Given the description of an element on the screen output the (x, y) to click on. 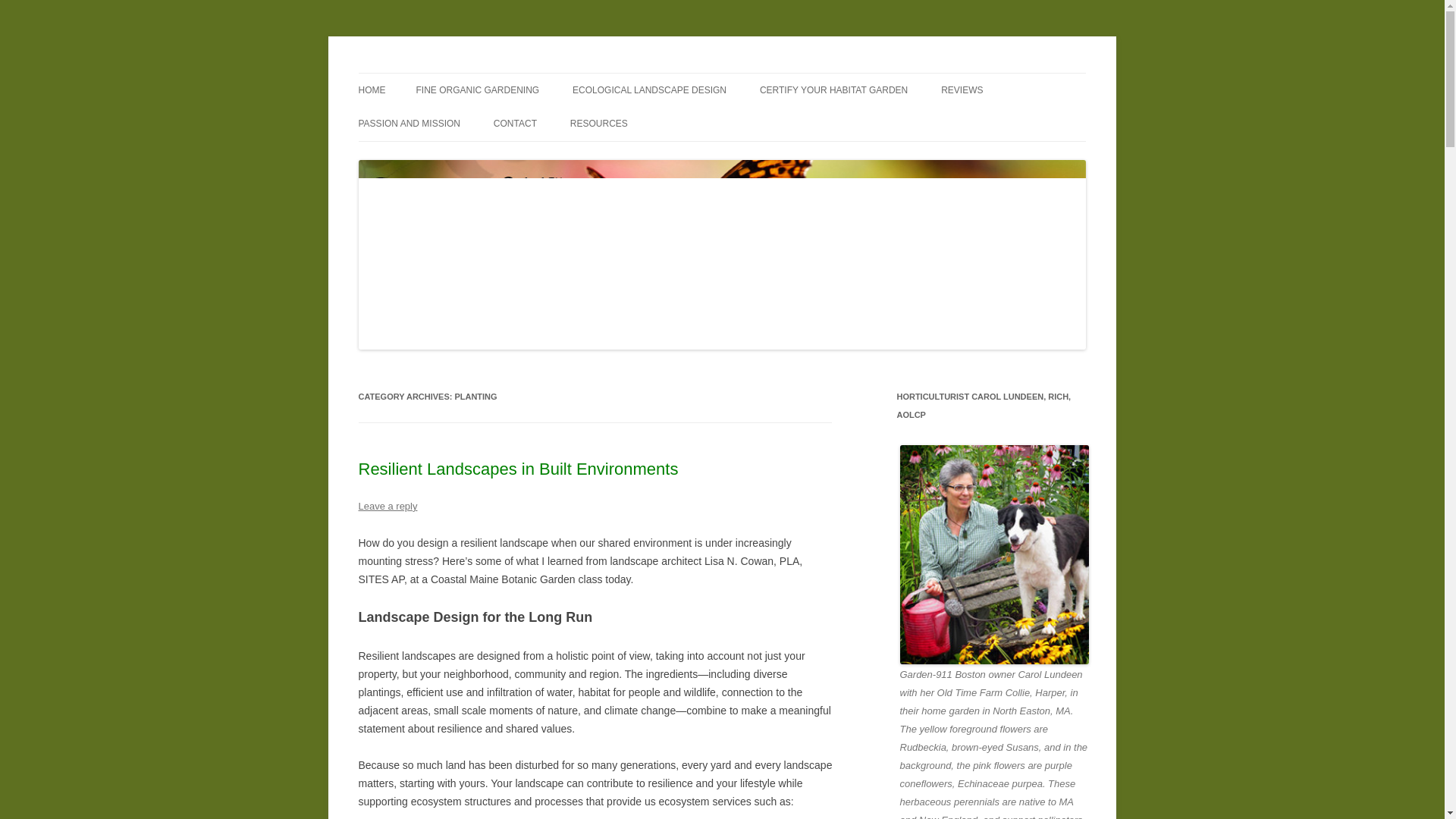
CONTACT (515, 123)
Leave a reply (387, 505)
CERTIFY YOUR HABITAT GARDEN (833, 90)
Resilient Landscapes in Built Environments (518, 468)
NATIVE PLANTS (646, 155)
FINE ORGANIC GARDENING (476, 90)
RESOURCES (598, 123)
REVIEWS (961, 90)
PASSION AND MISSION (409, 123)
